Given the description of an element on the screen output the (x, y) to click on. 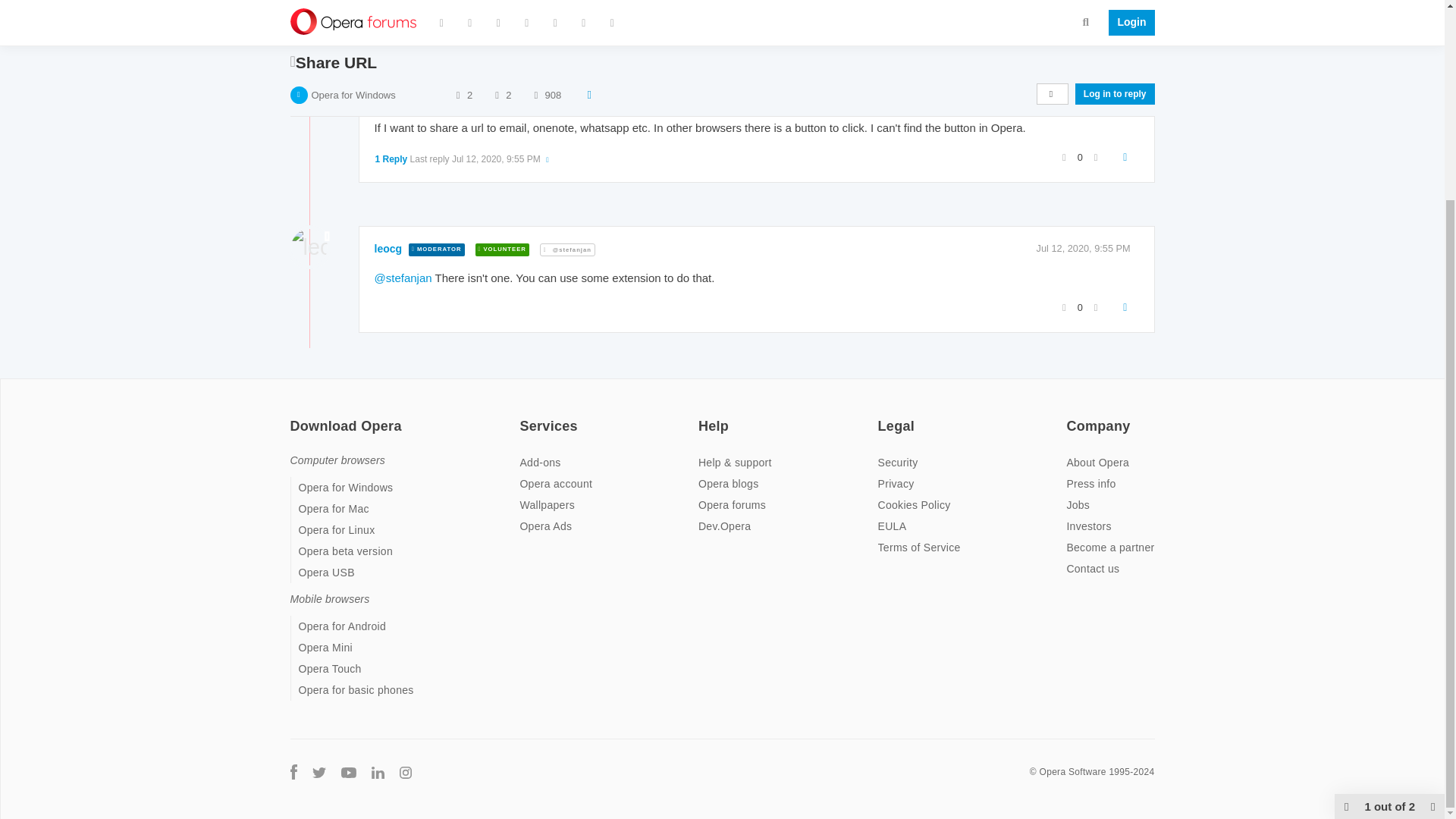
on (1070, 415)
Jul 12, 2020, 8:47 PM (1083, 74)
Log in to reply (1114, 16)
Opera for Windows (352, 18)
on (293, 415)
on (523, 415)
on (702, 415)
on (881, 415)
stefanjan (397, 74)
